Given the description of an element on the screen output the (x, y) to click on. 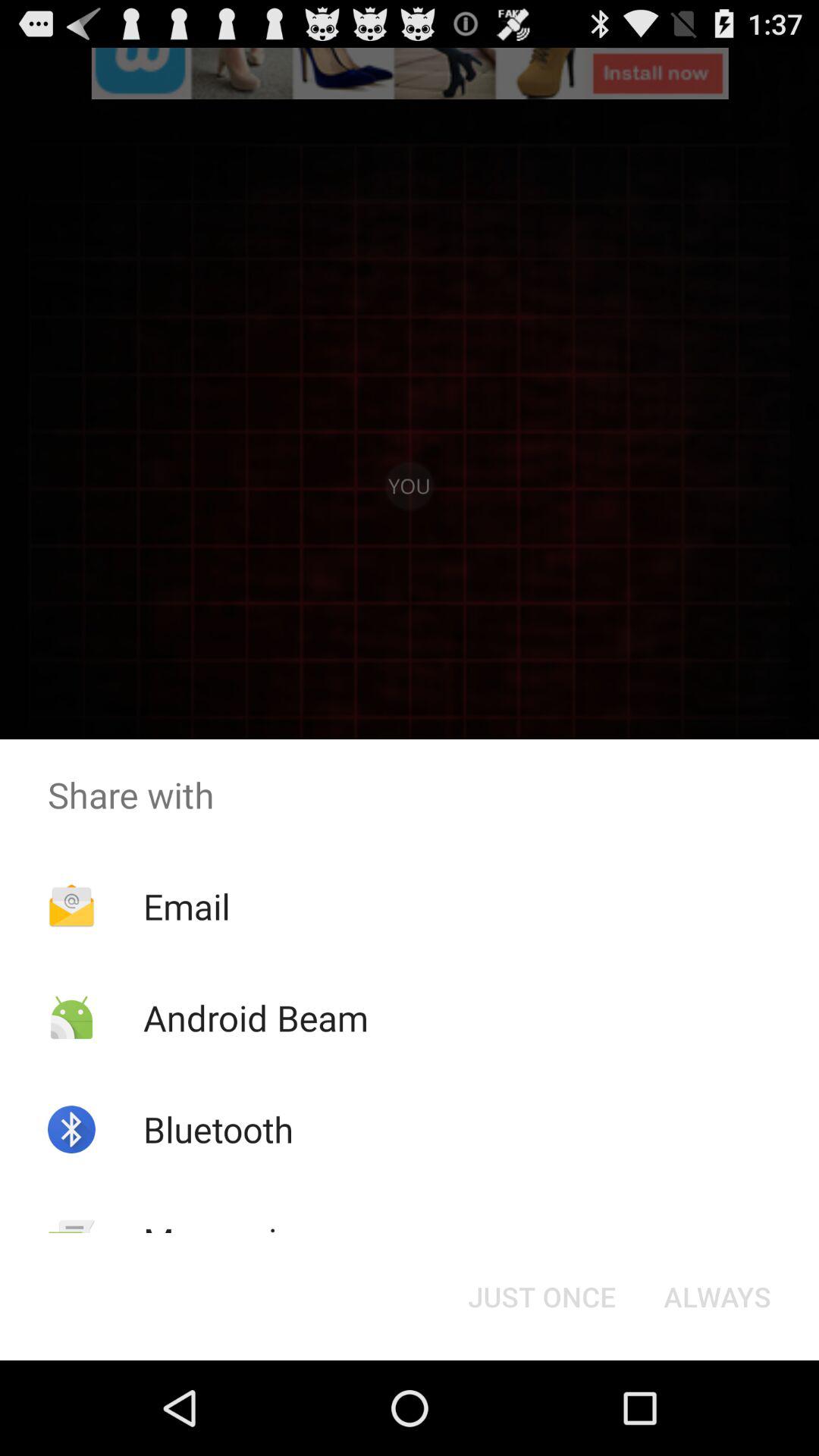
choose icon below android beam (218, 1129)
